Given the description of an element on the screen output the (x, y) to click on. 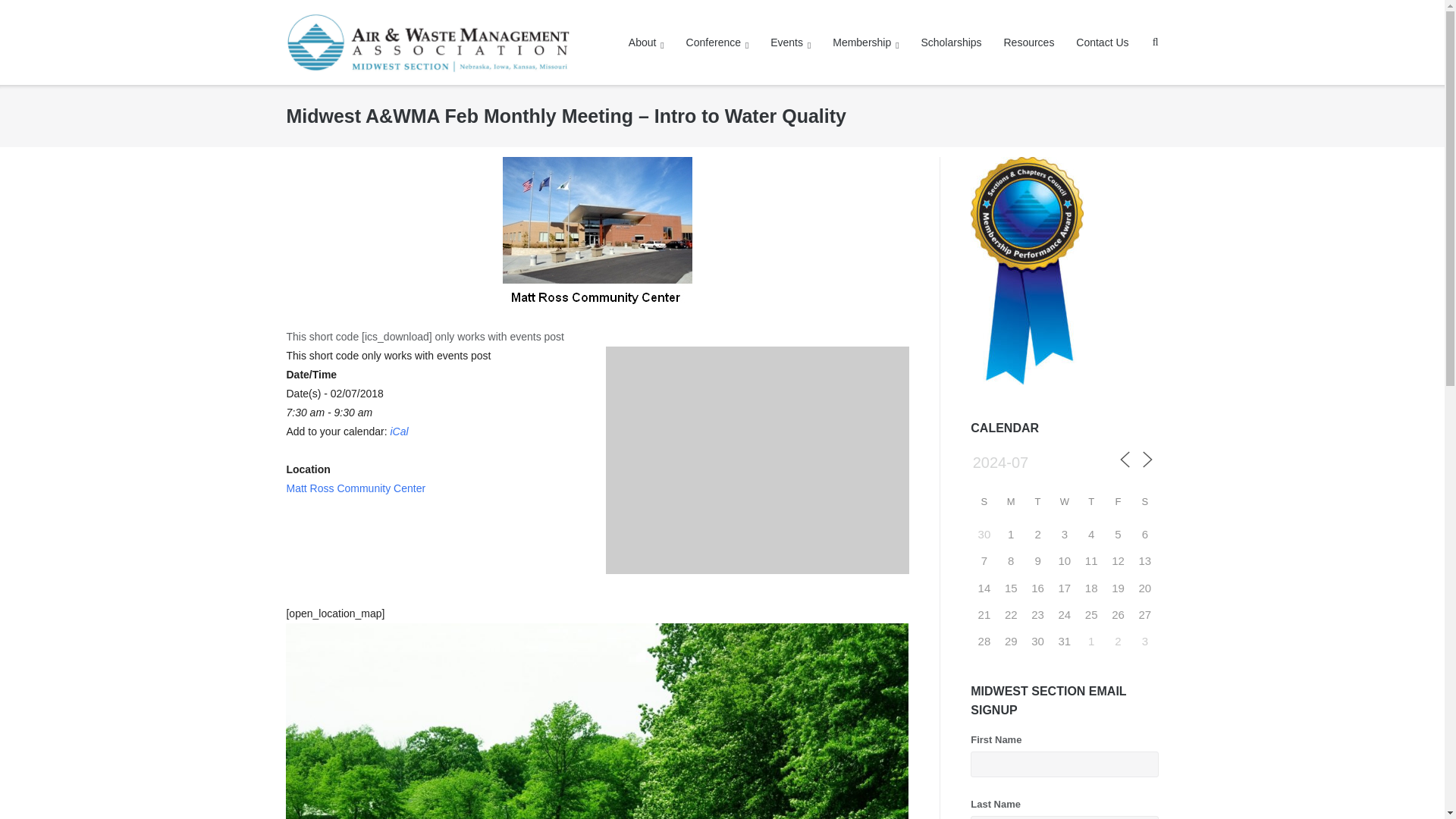
2024-07 (1023, 461)
Matt Ross Community Center (355, 488)
iCal (398, 431)
